Given the description of an element on the screen output the (x, y) to click on. 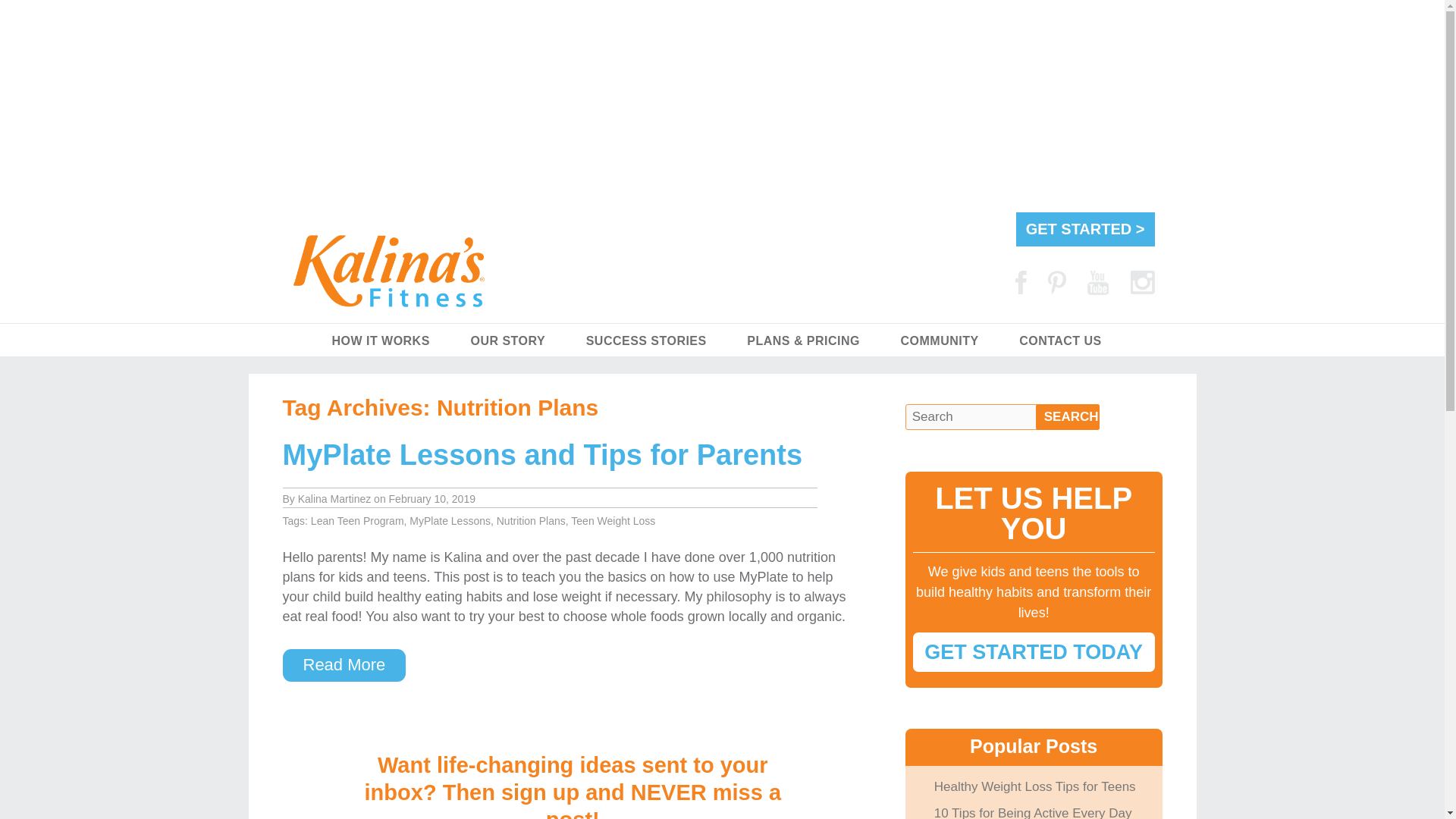
HOW IT WORKS (379, 339)
Read More (344, 665)
Lean Teen Program (357, 521)
MyPlate Lessons (449, 521)
CONTACT US (1059, 339)
GET STARTED TODAY (1033, 651)
Permanent Link to MyPlate Lessons and Tips for Parents (542, 454)
MyPlate Lessons and Tips for Parents (542, 454)
OUR STORY (506, 339)
SEARCH (1067, 416)
Nutrition Plans (531, 521)
Teen Weight Loss (612, 521)
COMMUNITY (939, 339)
Search for: (1002, 416)
SUCCESS STORIES (646, 339)
